Given the description of an element on the screen output the (x, y) to click on. 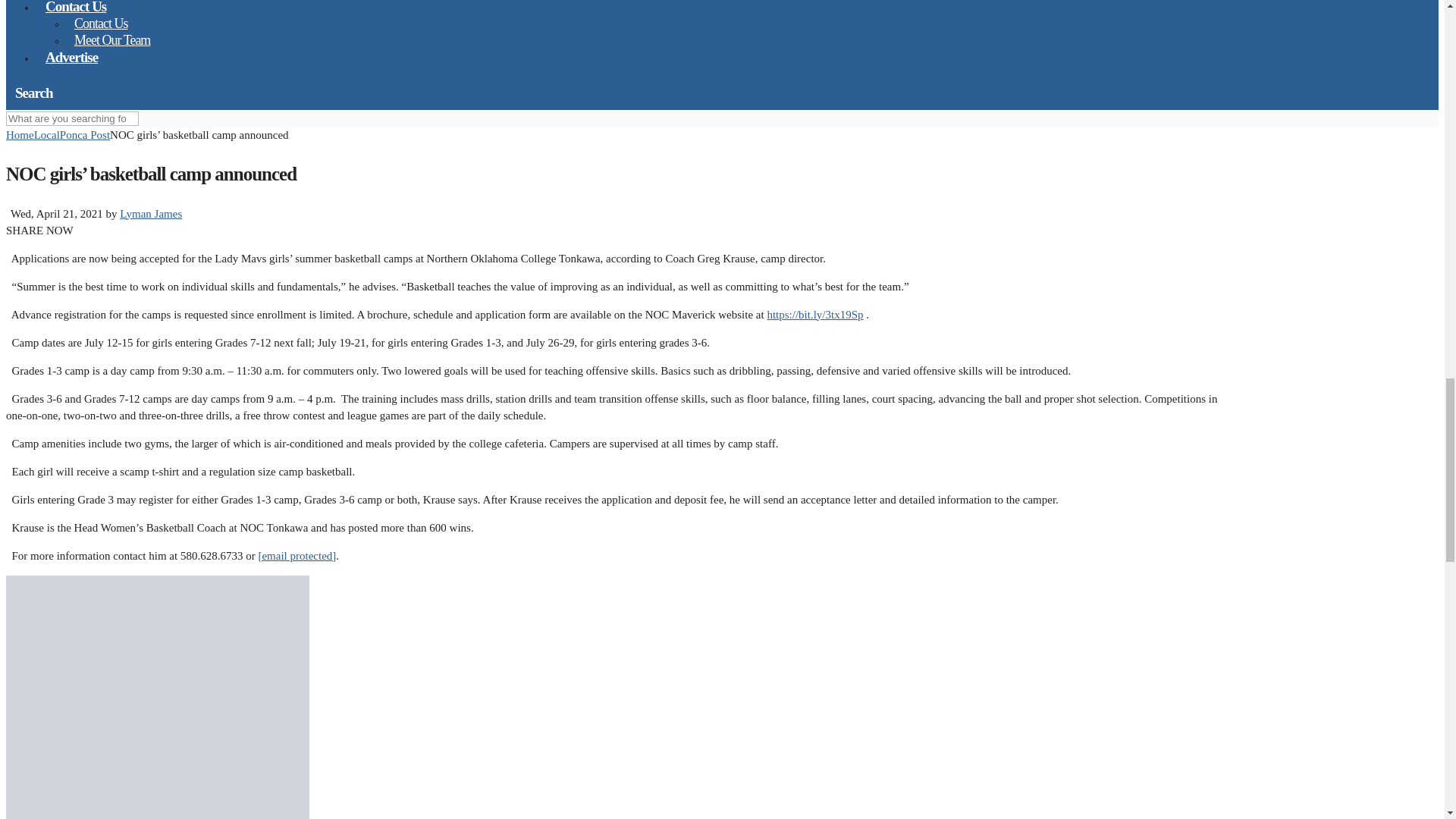
Posts by Lyman James (150, 214)
Search for: (71, 118)
